Given the description of an element on the screen output the (x, y) to click on. 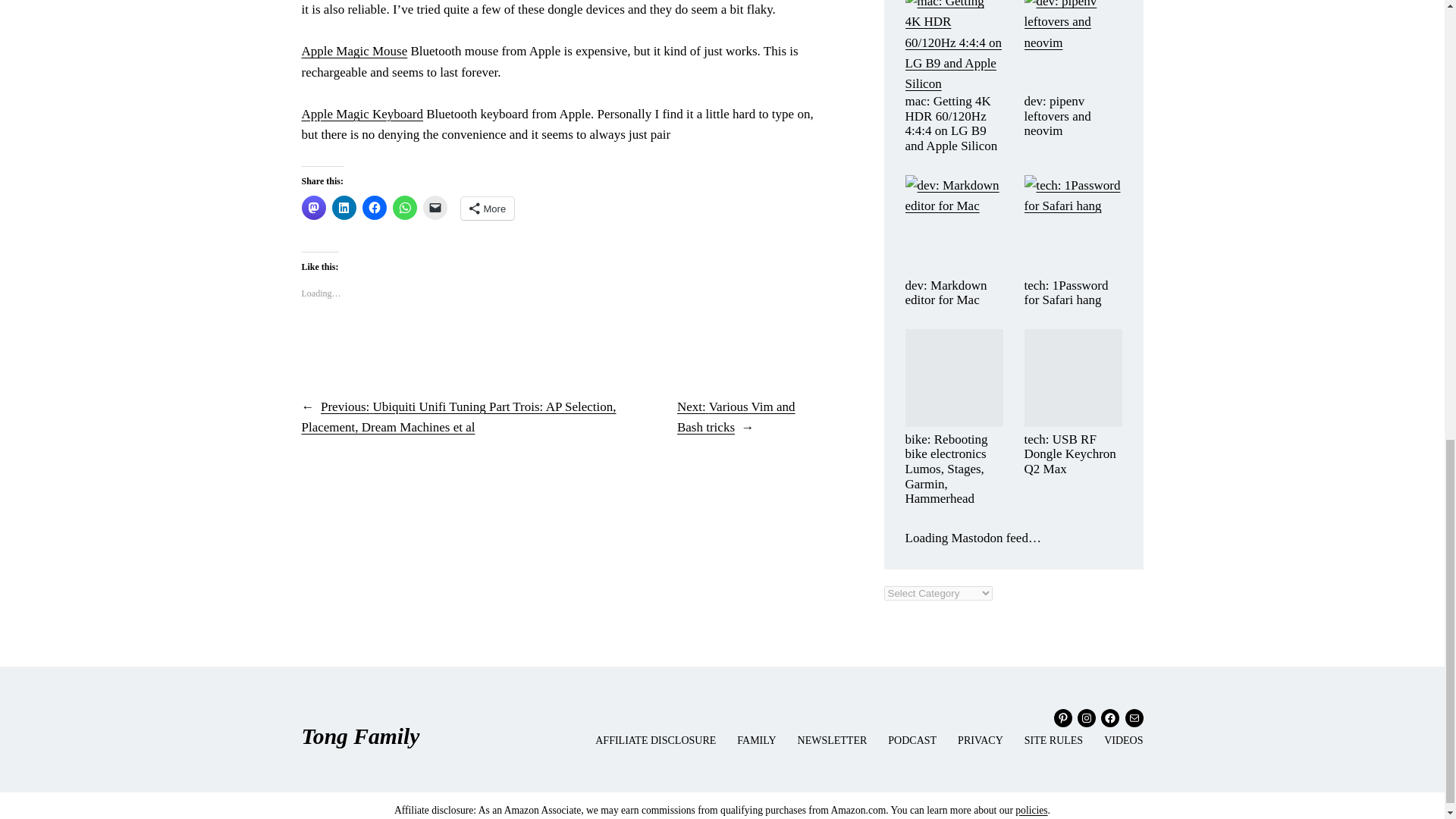
Click to share on Facebook (374, 207)
More (488, 208)
Next: Various Vim and Bash tricks (735, 416)
Click to share on Mastodon (313, 207)
Click to email a link to a friend (434, 207)
Click to share on WhatsApp (404, 207)
Click to share on LinkedIn (343, 207)
Apple Magic Mouse (354, 51)
Apple Magic Keyboard (362, 114)
